Given the description of an element on the screen output the (x, y) to click on. 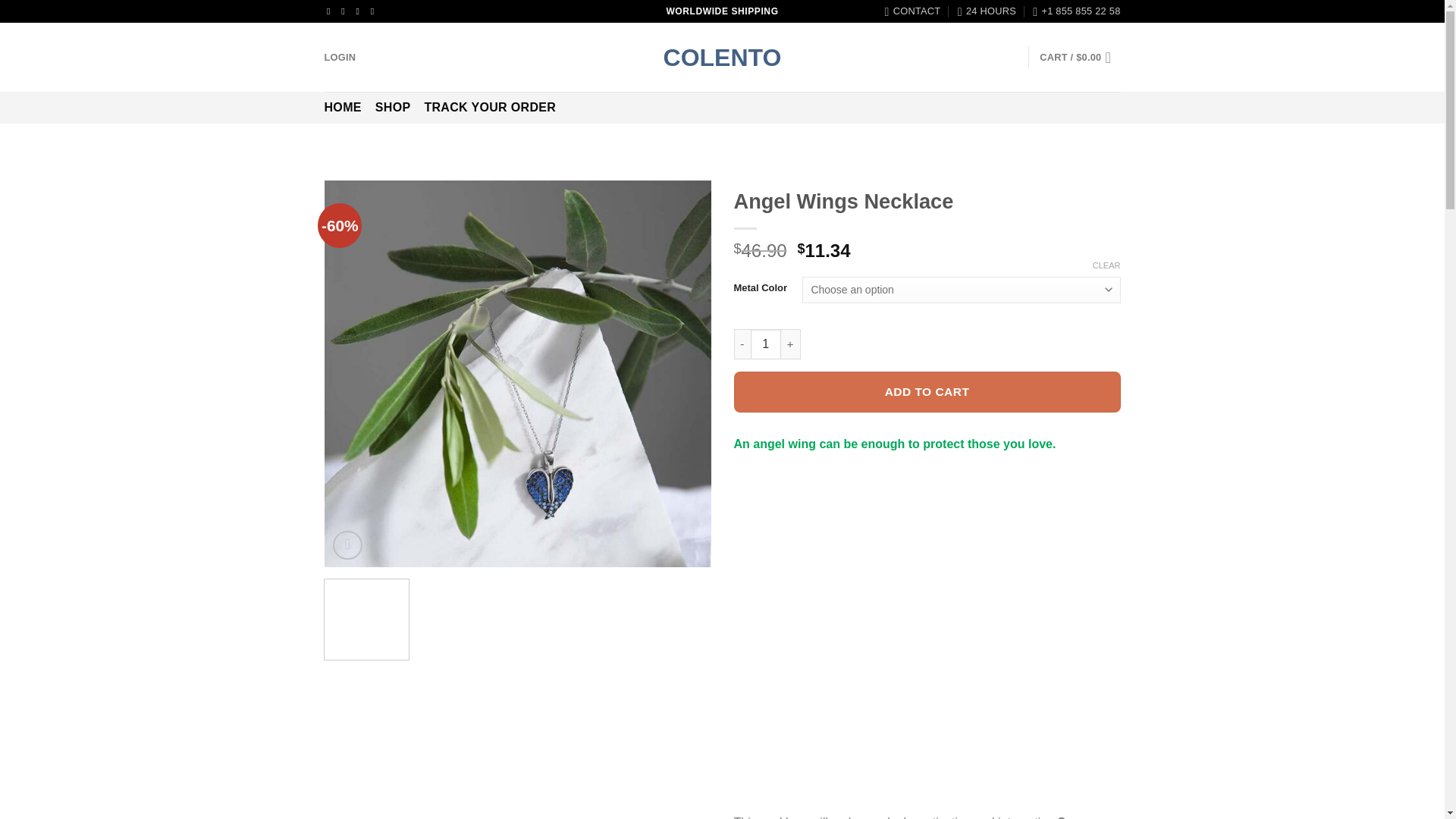
LOGIN (340, 57)
Cart (1079, 57)
CLEAR (1107, 265)
ADD TO CART (927, 392)
SHOP (392, 107)
Zoom (347, 545)
Colento - Smart Shop Center (721, 57)
CONTACT (912, 11)
24 Hours  (987, 11)
Login (340, 57)
